Given the description of an element on the screen output the (x, y) to click on. 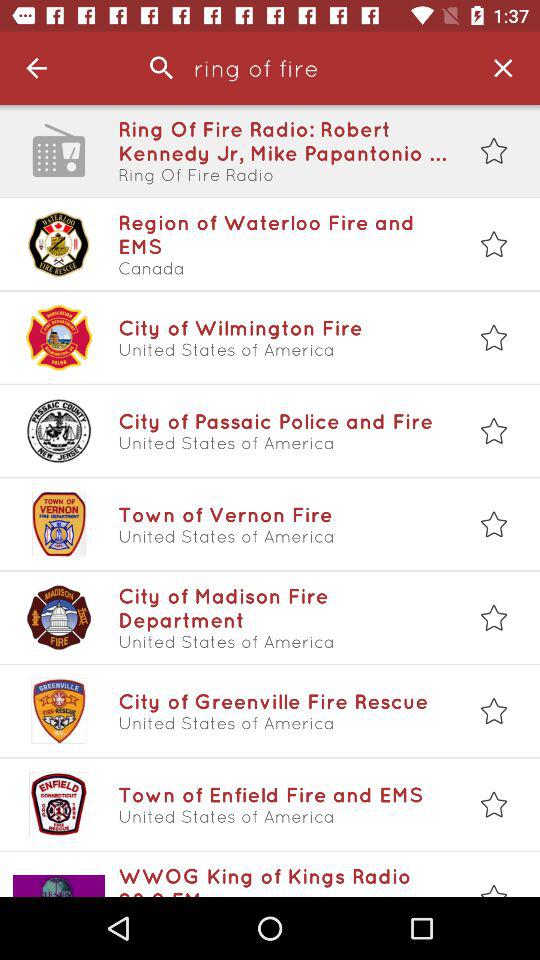
tap item next to the ring of fire item (502, 67)
